Given the description of an element on the screen output the (x, y) to click on. 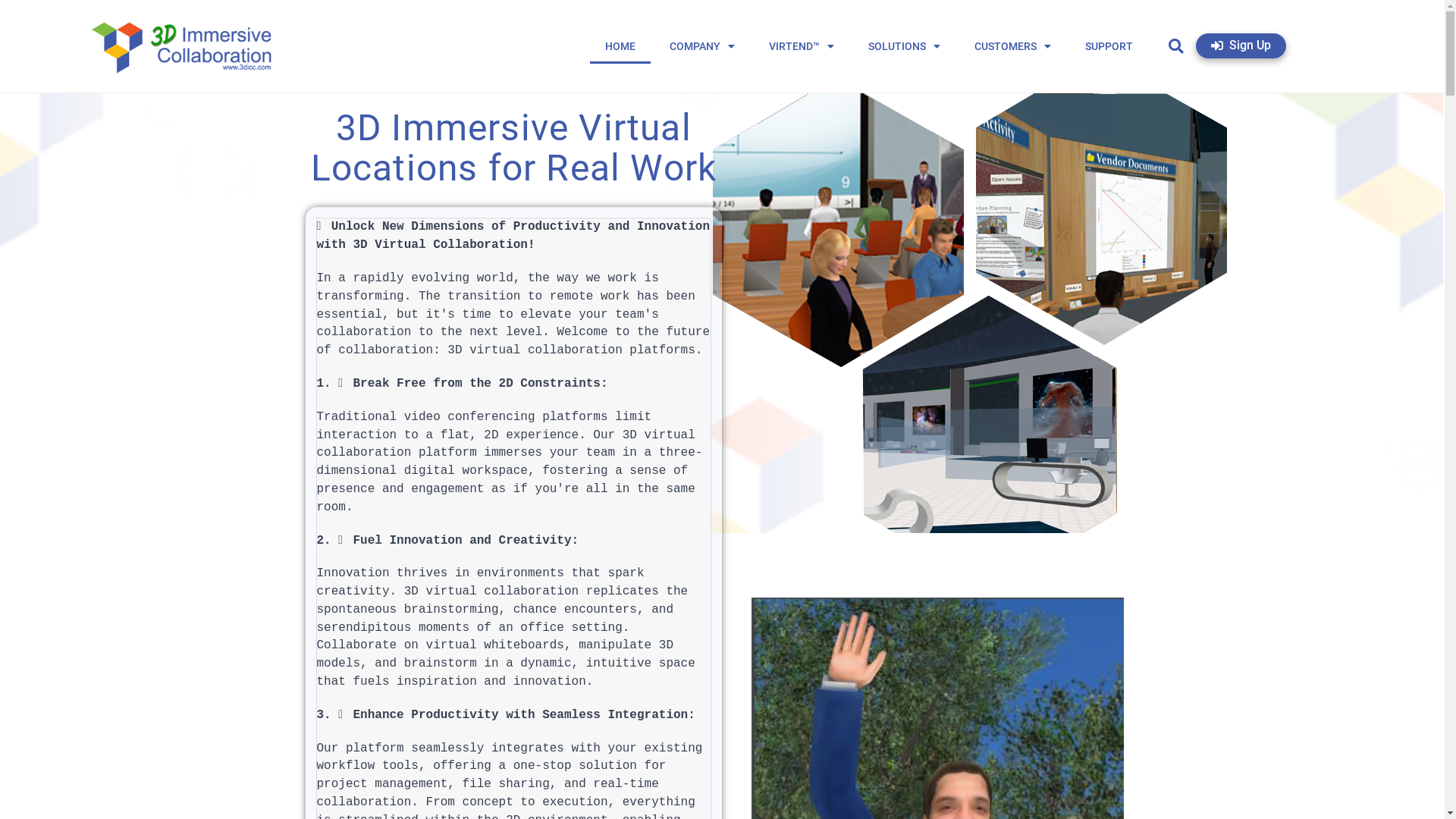
Sign Up Element type: text (1240, 45)
SOLUTIONS Element type: text (904, 45)
SUPPORT Element type: text (1109, 45)
COMPANY Element type: text (701, 45)
HOME Element type: text (619, 45)
CUSTOMERS Element type: text (1012, 45)
